Given the description of an element on the screen output the (x, y) to click on. 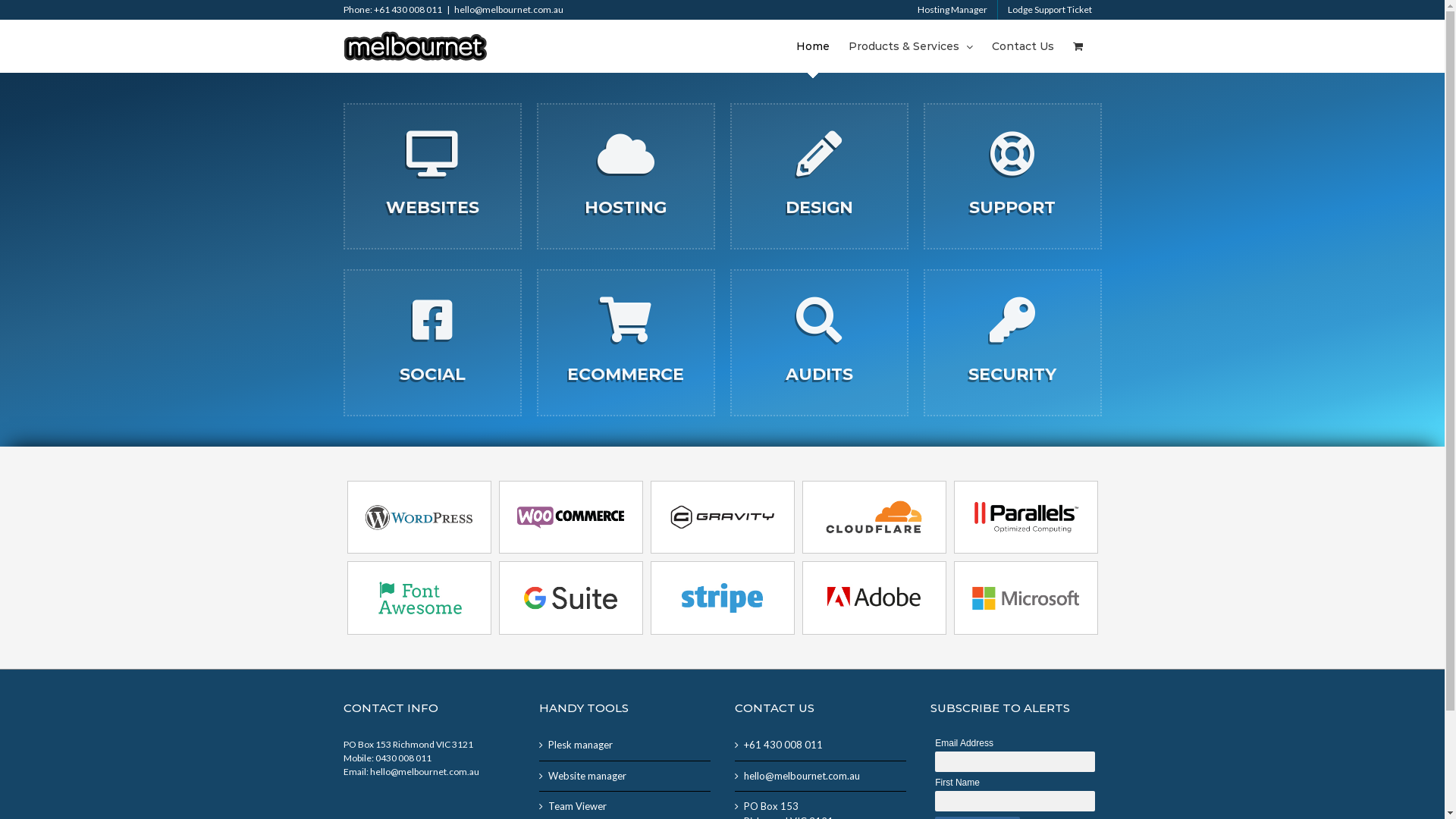
Products & Services Element type: text (909, 45)
gravityforms Element type: hover (722, 517)
hello@melbournet.com.au Element type: text (820, 776)
hello@melbournet.com.au Element type: text (424, 771)
Plesk manager Element type: text (624, 745)
Lodge Support Ticket Element type: text (1049, 9)
Contact Us Element type: text (1022, 45)
fontawesome2 Element type: hover (419, 597)
strip Element type: hover (722, 597)
Team Viewer Element type: text (624, 806)
Hosting Manager Element type: text (951, 9)
Website manager Element type: text (624, 776)
0430 008 011 Element type: text (402, 757)
gsuite Element type: hover (570, 597)
microsoft Element type: hover (1025, 597)
+61 430 008 011 Element type: text (407, 9)
adobe Element type: hover (874, 597)
cloudflare Element type: hover (874, 517)
Home Element type: text (812, 45)
parallels Element type: hover (1025, 517)
woocommerce Element type: hover (570, 517)
wordpress Element type: hover (419, 517)
hello@melbournet.com.au Element type: text (507, 9)
+61 430 008 011 Element type: text (820, 745)
